Given the description of an element on the screen output the (x, y) to click on. 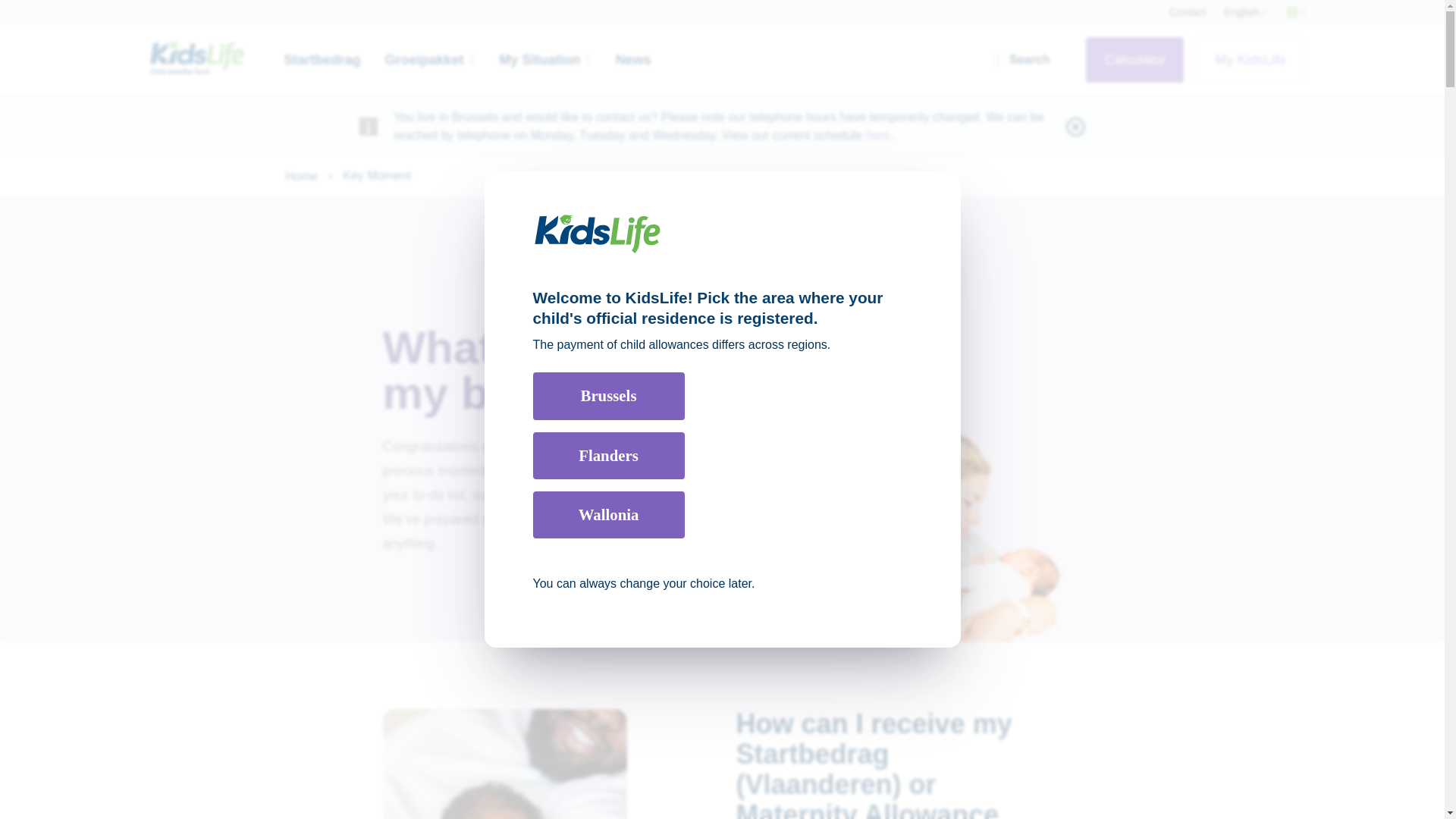
Groeipakket (430, 59)
Startbedrag (321, 59)
English (1244, 12)
My Situation (545, 59)
Brussels (608, 395)
Flanders (608, 455)
Contact (1187, 12)
Wallonia (608, 514)
